Given the description of an element on the screen output the (x, y) to click on. 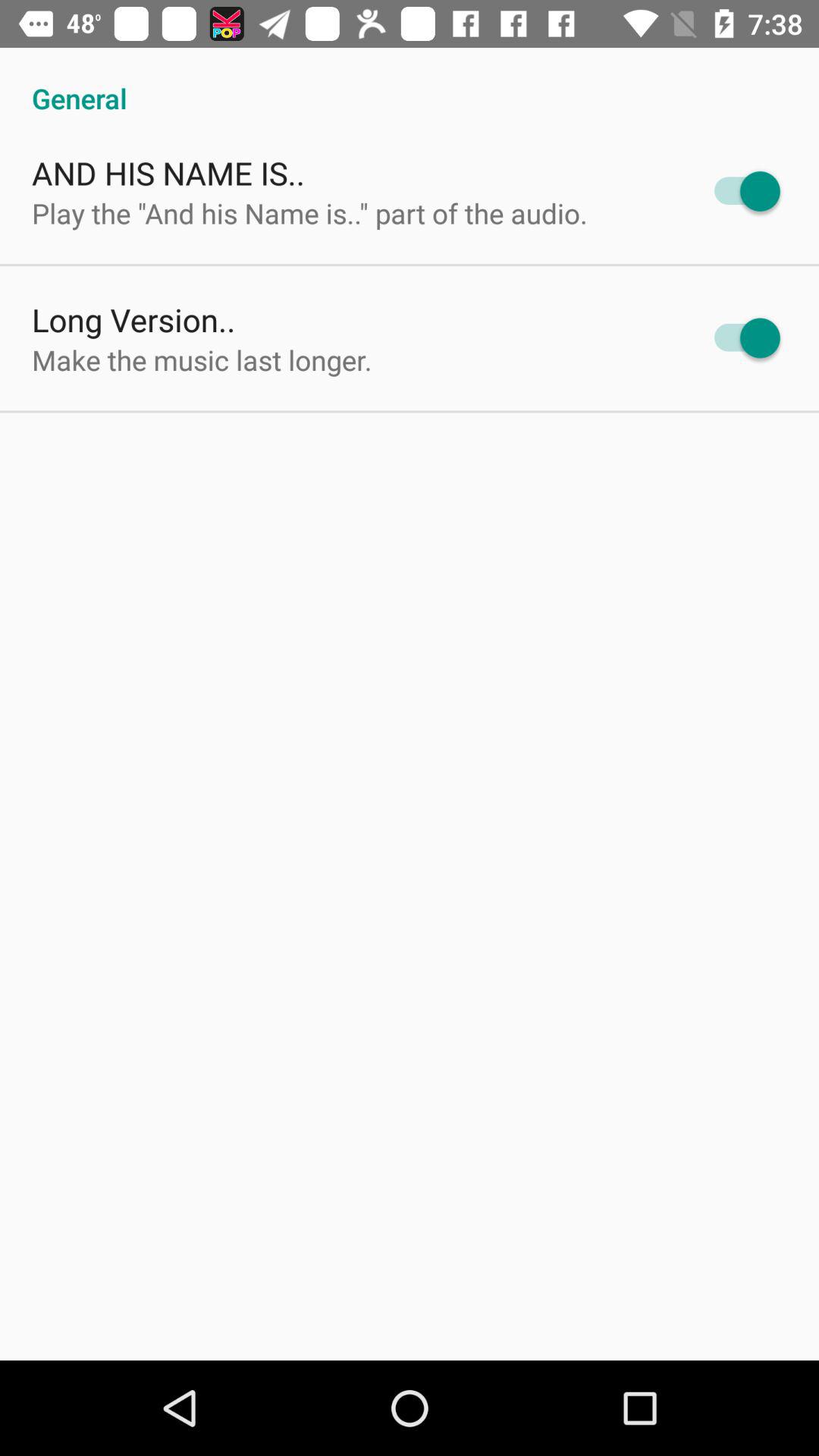
click make the music (201, 359)
